Given the description of an element on the screen output the (x, y) to click on. 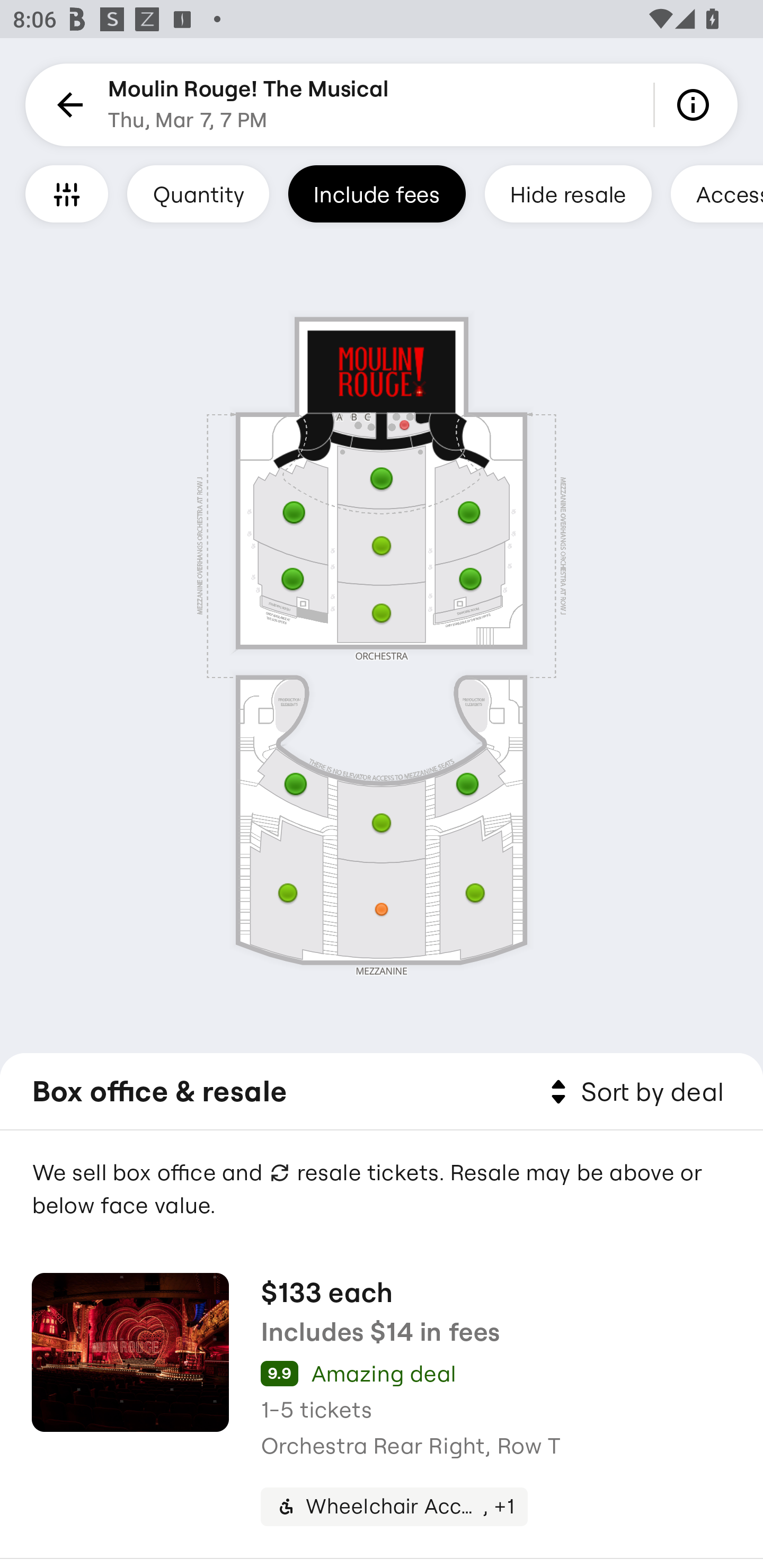
Back (66, 104)
Moulin Rouge! The Musical Thu, Mar 7, 7 PM (248, 104)
Info (695, 104)
Filters and Accessible Seating (66, 193)
Quantity (198, 193)
Include fees (376, 193)
Hide resale (567, 193)
Sort by deal (633, 1091)
